Given the description of an element on the screen output the (x, y) to click on. 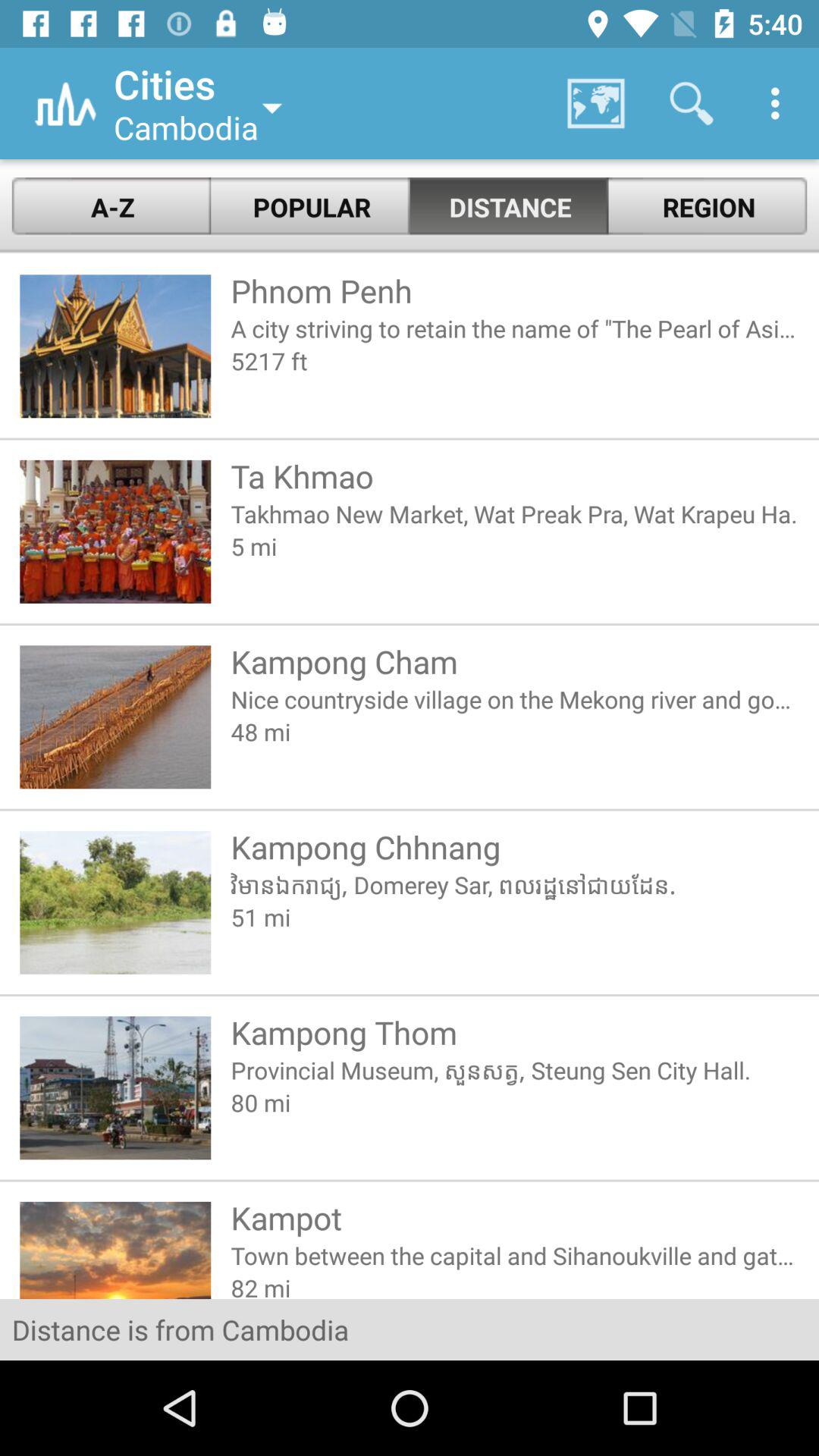
click a city striving item (514, 328)
